Given the description of an element on the screen output the (x, y) to click on. 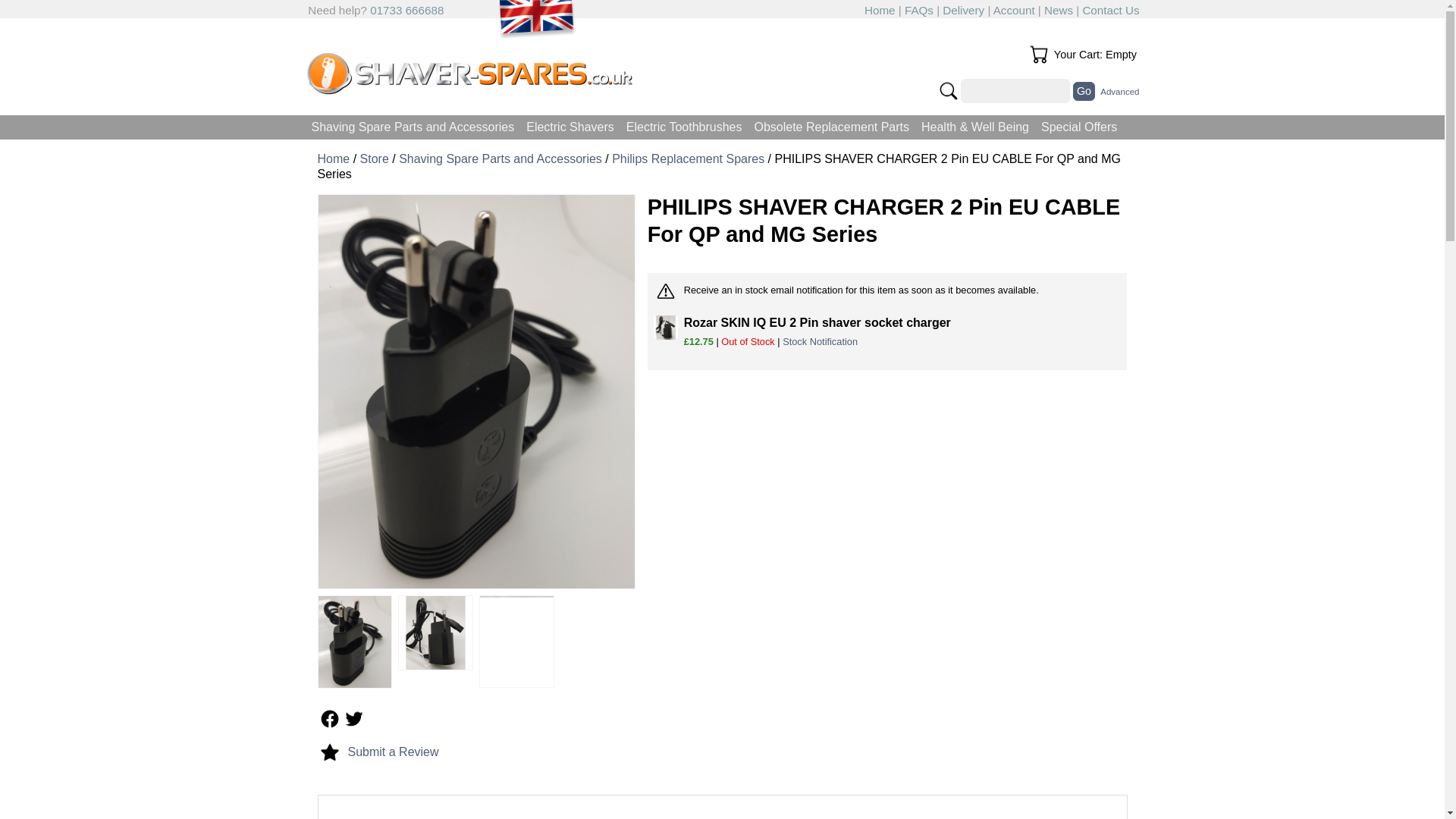
Delivery (963, 10)
Home (879, 10)
Submit a Review (392, 751)
Shaving Spare Parts and Accessories (500, 158)
News (1058, 10)
Home (333, 158)
Go (1083, 90)
Account (1013, 10)
Delivery (963, 10)
Store (373, 158)
Home (333, 158)
Home (879, 10)
01733 666688 (406, 10)
Philips Replacement Spares (687, 158)
Contact Us (1109, 10)
